Given the description of an element on the screen output the (x, y) to click on. 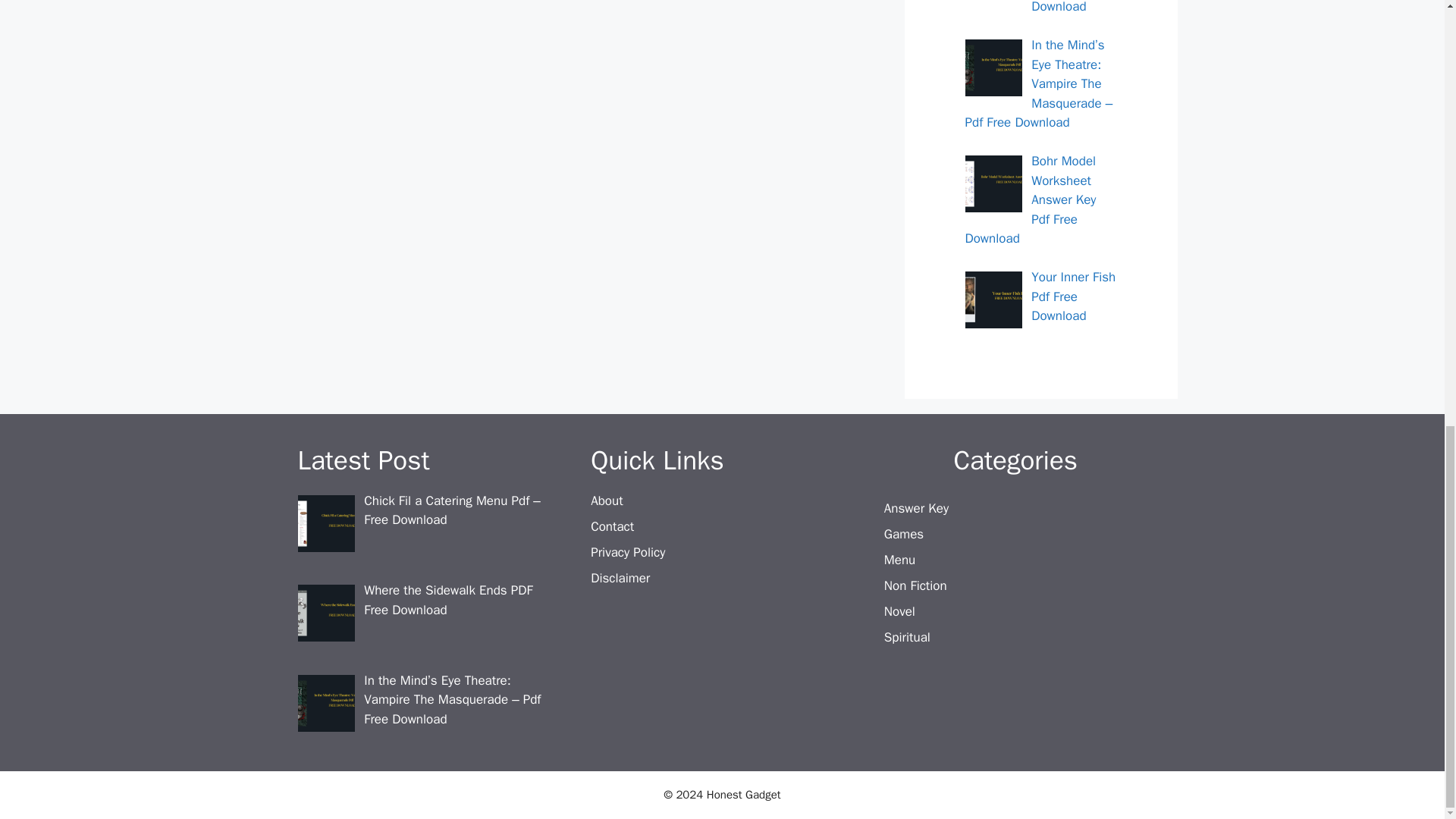
Where the Sidewalk Ends PDF Free Download (1071, 7)
Bohr Model Worksheet Answer Key Pdf Free Download (1029, 199)
About (607, 500)
Games (903, 534)
Contact (612, 526)
Spiritual (906, 637)
Answer Key (916, 508)
Disclaimer (620, 578)
Privacy Policy (628, 552)
Non Fiction (915, 585)
